Given the description of an element on the screen output the (x, y) to click on. 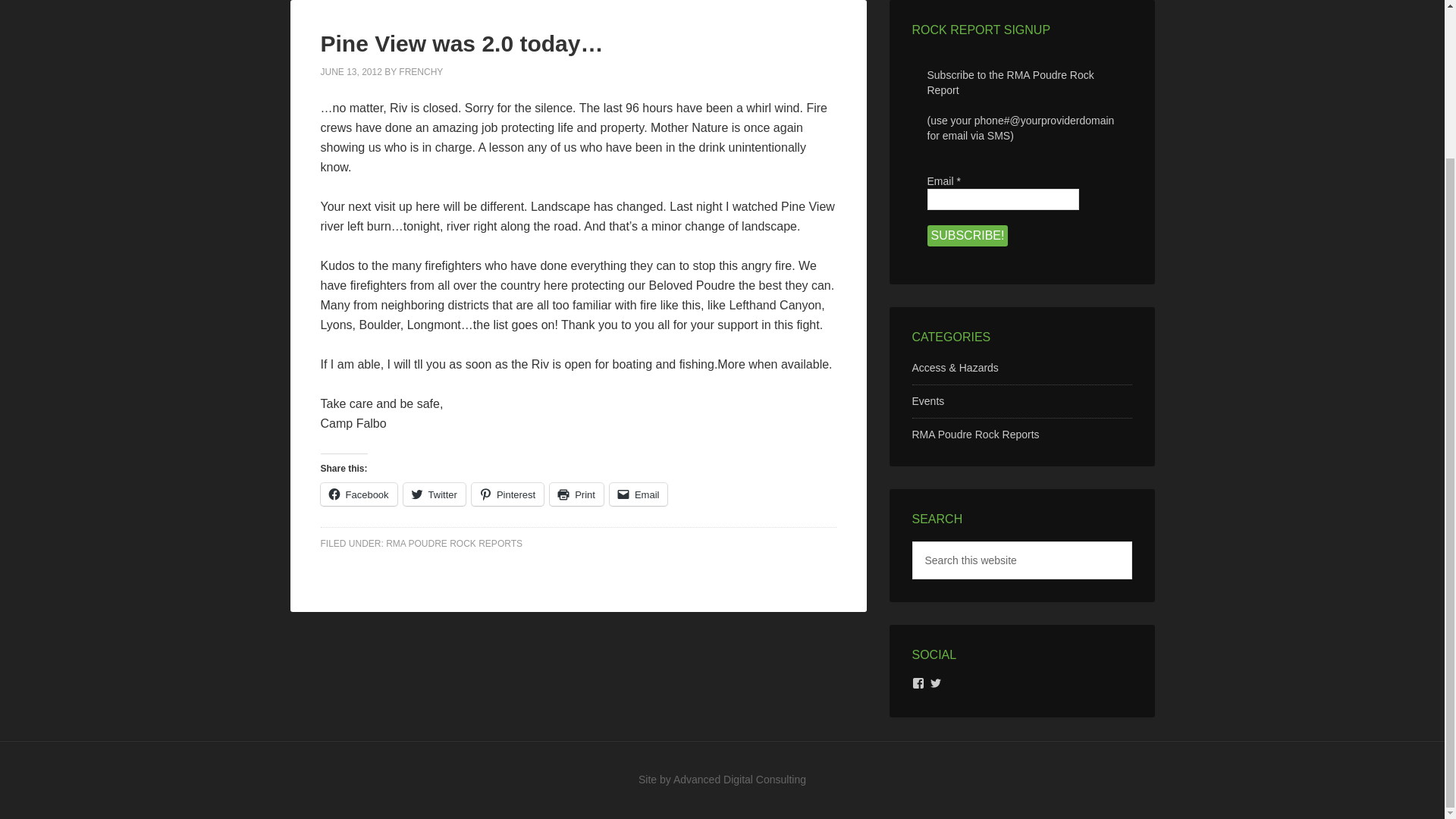
Click to share on Facebook (358, 494)
Print (577, 494)
Subscribe! (966, 235)
Subscribe! (966, 235)
Click to email a link to a friend (639, 494)
Twitter (434, 494)
FRENCHY (420, 71)
RMA POUDRE ROCK REPORTS (453, 543)
Advanced Digital Consulting (739, 779)
Facebook (358, 494)
Click to share on Pinterest (507, 494)
Click to print (577, 494)
Pinterest (507, 494)
